Given the description of an element on the screen output the (x, y) to click on. 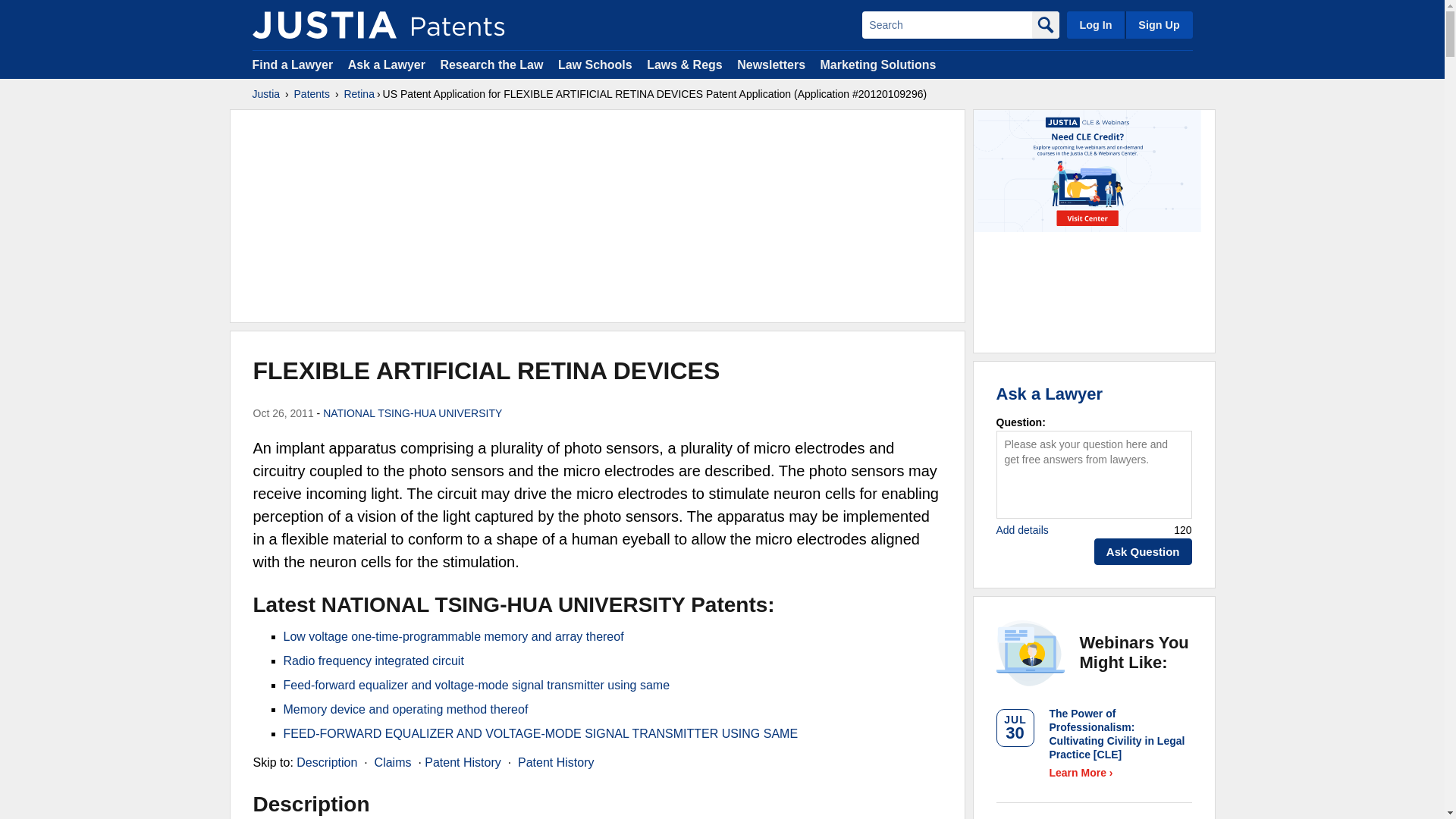
Log In (1094, 24)
Description (326, 762)
NATIONAL TSING-HUA UNIVERSITY (412, 413)
Justia (265, 93)
Search (945, 24)
Radio frequency integrated circuit (373, 660)
Justia (323, 24)
Marketing Solutions (877, 64)
Ask a Lawyer (386, 64)
Claims (393, 762)
Patents (312, 93)
Memory device and operating method thereof (405, 708)
Law Schools (594, 64)
